Given the description of an element on the screen output the (x, y) to click on. 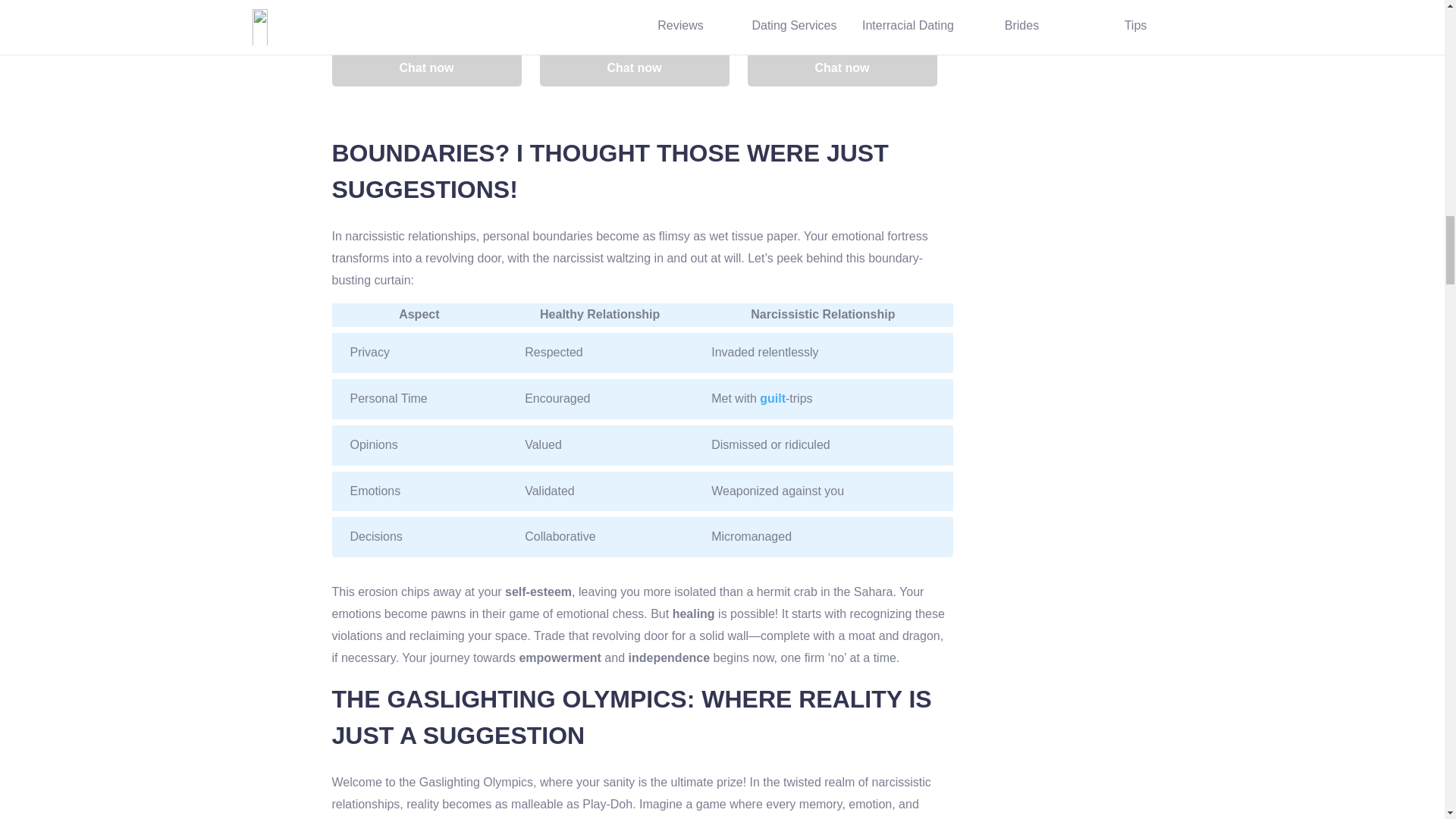
Chat now (842, 67)
Chat now (634, 67)
Chat now (426, 67)
